Given the description of an element on the screen output the (x, y) to click on. 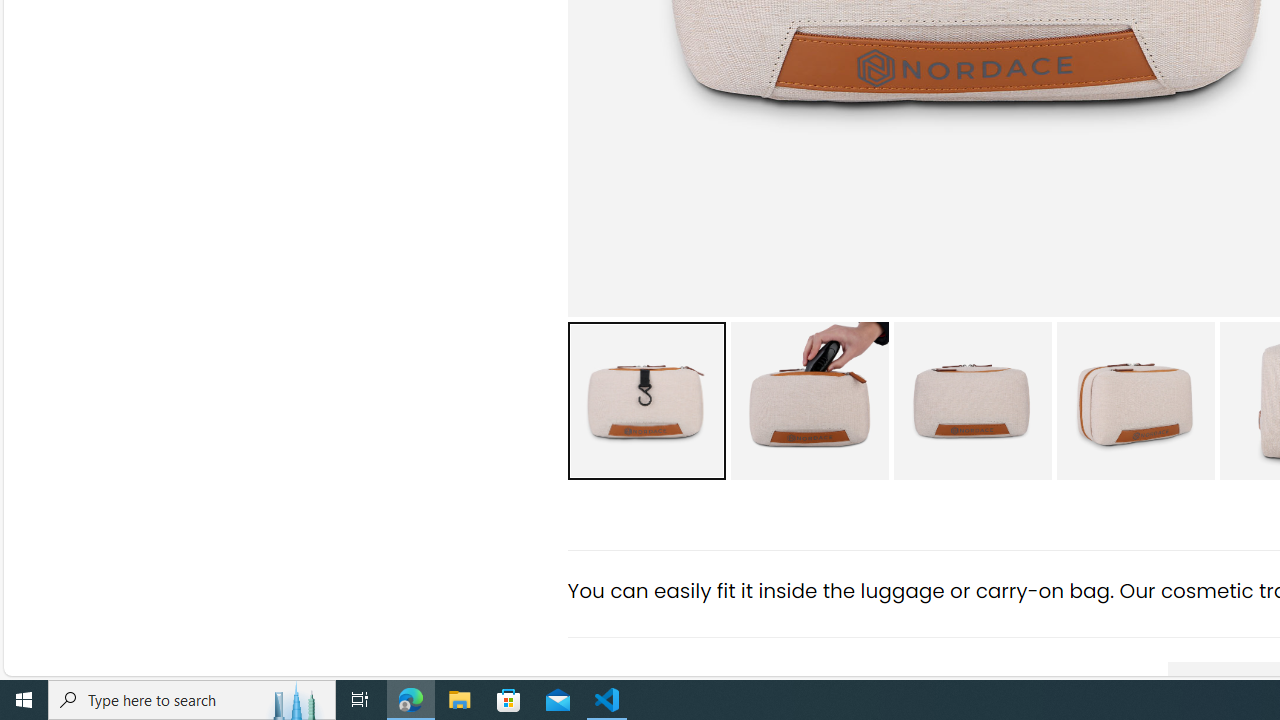
Nordace Siena Wash Pouch (1135, 400)
